Given the description of an element on the screen output the (x, y) to click on. 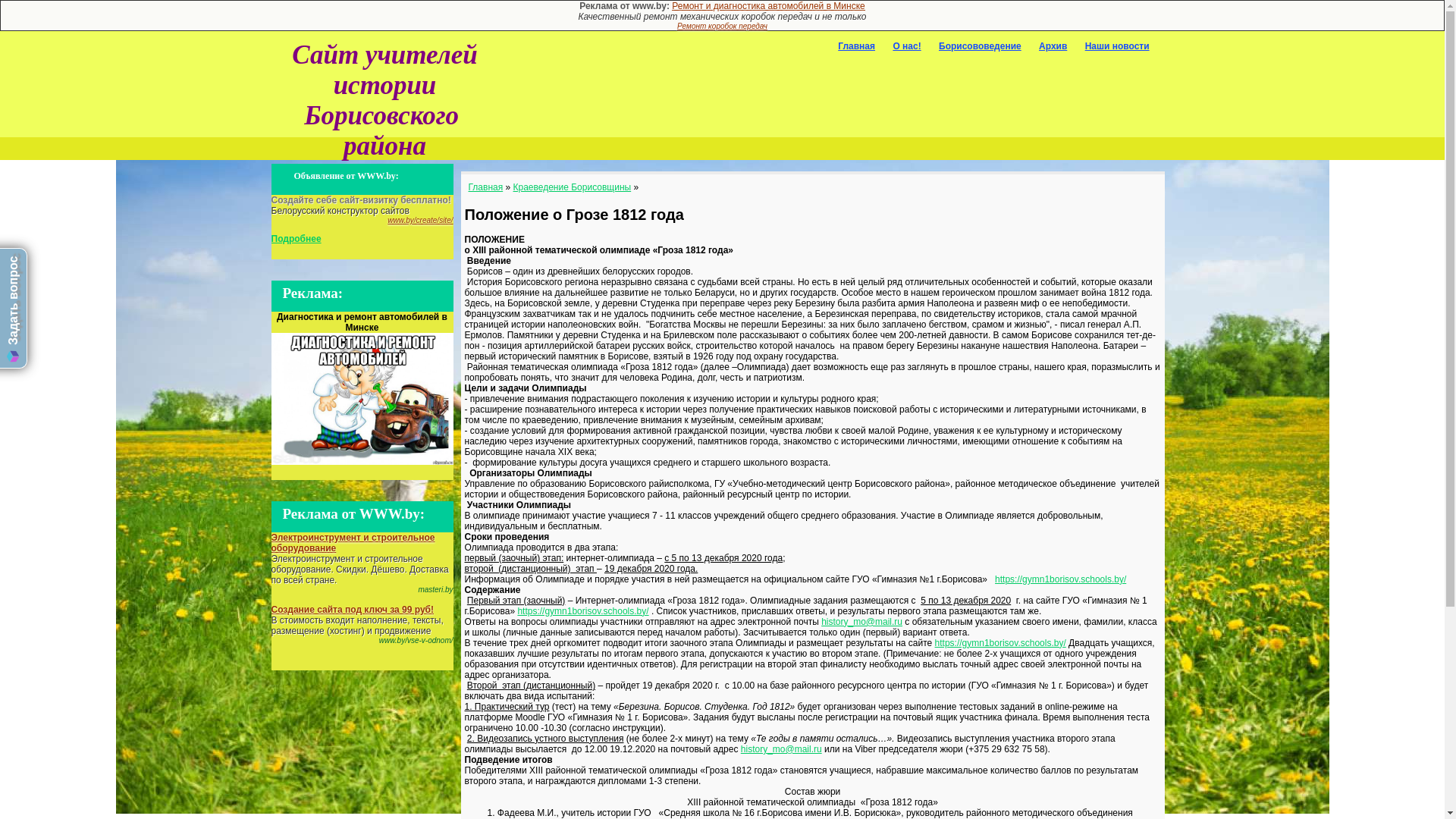
https://gymn1borisov.schools.by/ Element type: text (1060, 579)
https://gymn1borisov.schools.by/ Element type: text (582, 610)
www.by/create/site/ Element type: text (419, 220)
history_mo@mail.ru Element type: text (781, 748)
history_mo@mail.ru Element type: text (861, 621)
https://gymn1borisov.schools.by/ Element type: text (1000, 642)
